Given the description of an element on the screen output the (x, y) to click on. 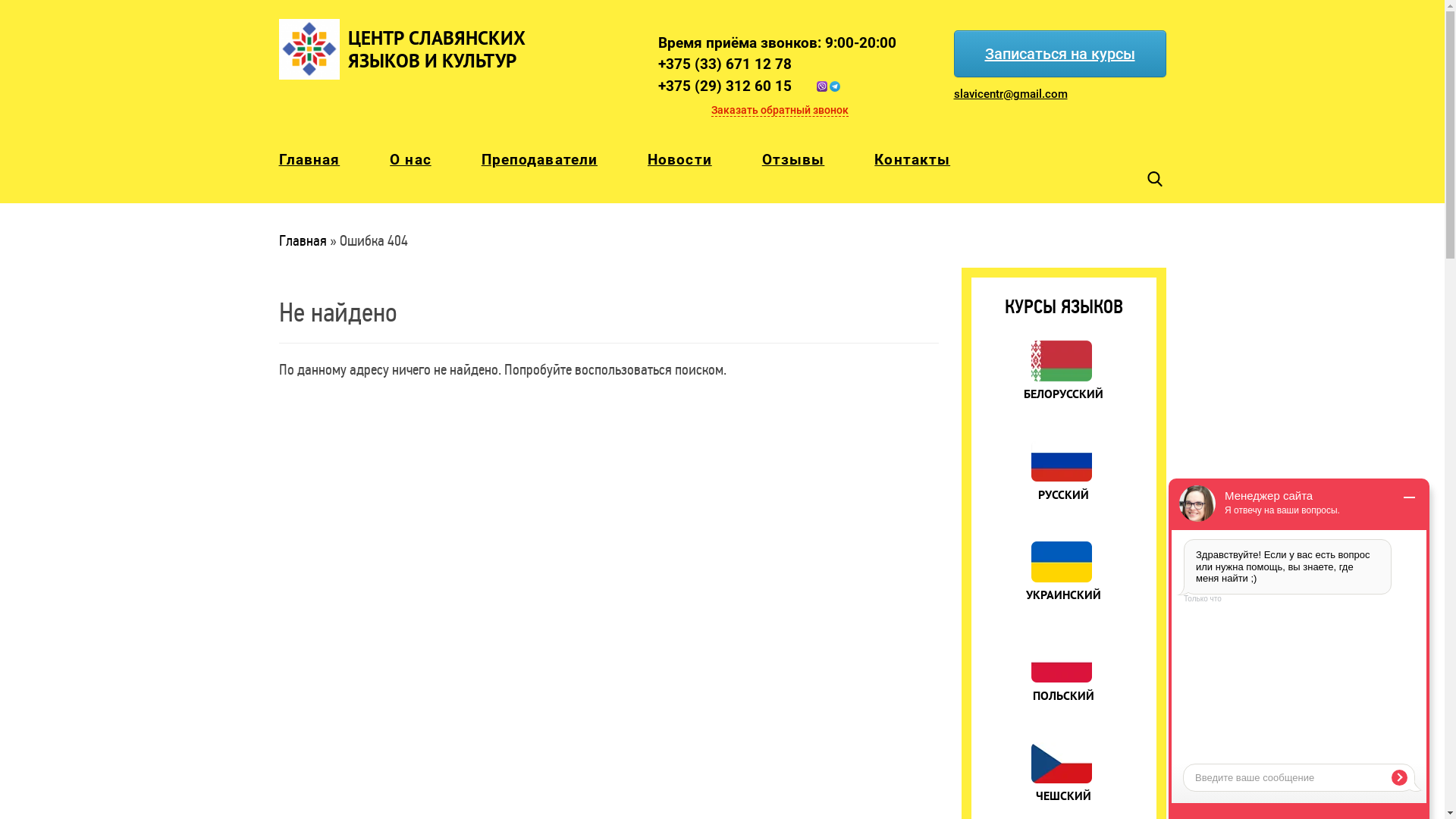
slavicentr@gmail.com Element type: text (1033, 93)
+375 (33) 671 12 78 Element type: text (788, 64)
+375 (29) 312 60 15 Element type: text (788, 86)
